Given the description of an element on the screen output the (x, y) to click on. 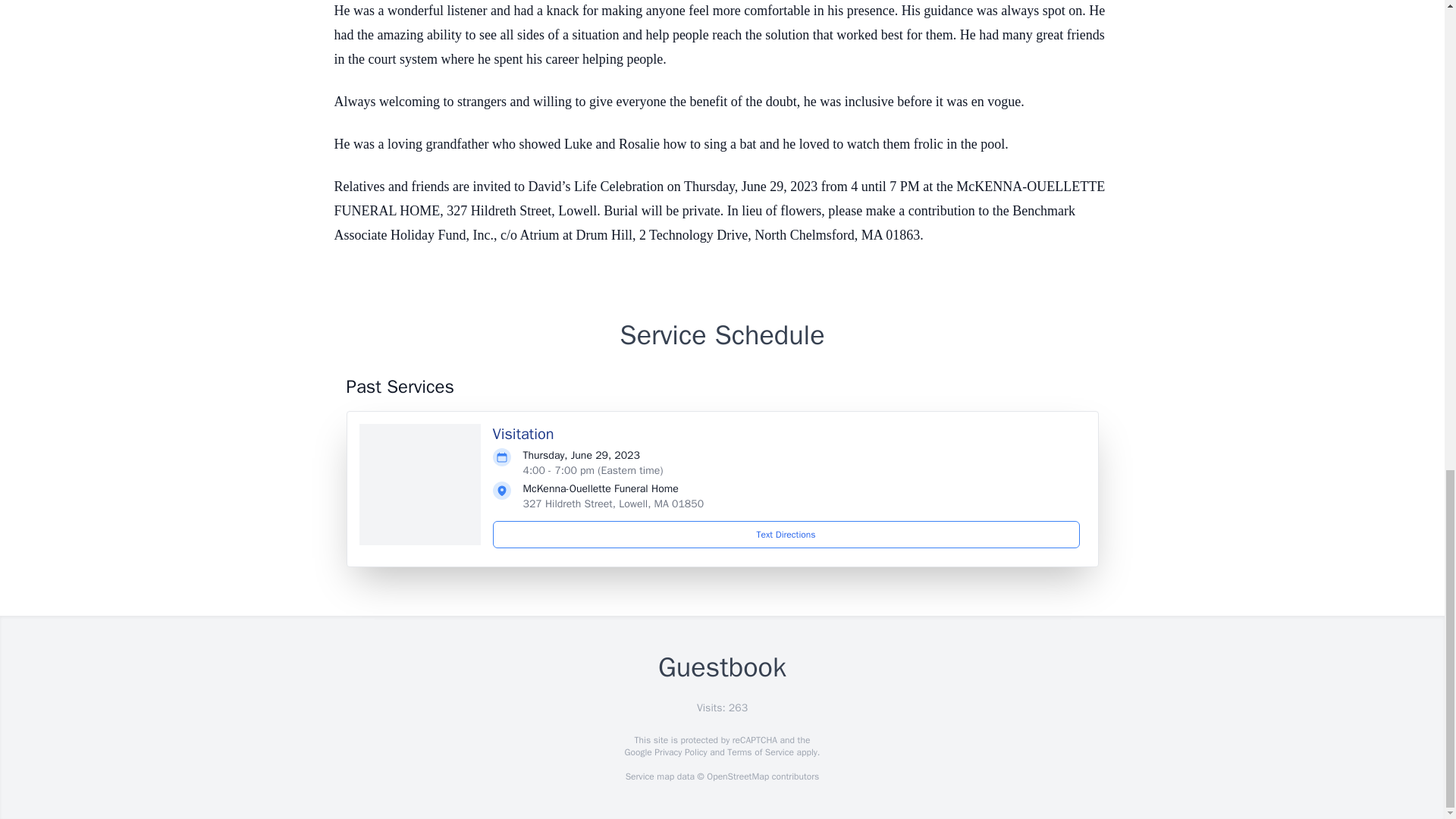
327 Hildreth Street, Lowell, MA 01850 (613, 503)
OpenStreetMap (737, 776)
Terms of Service (759, 752)
Text Directions (786, 533)
Privacy Policy (679, 752)
